Given the description of an element on the screen output the (x, y) to click on. 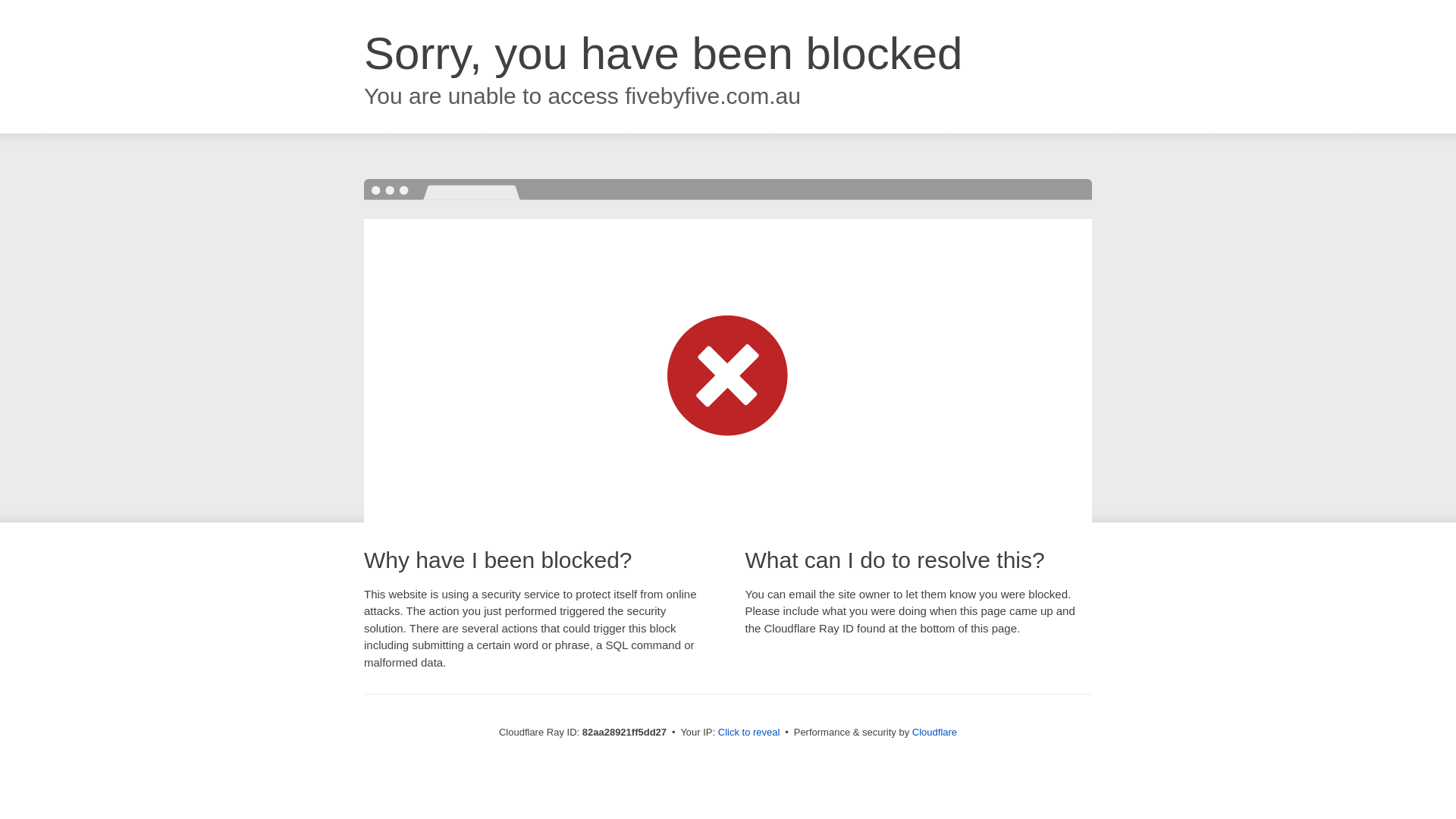
Click to reveal Element type: text (749, 732)
Cloudflare Element type: text (934, 731)
